Given the description of an element on the screen output the (x, y) to click on. 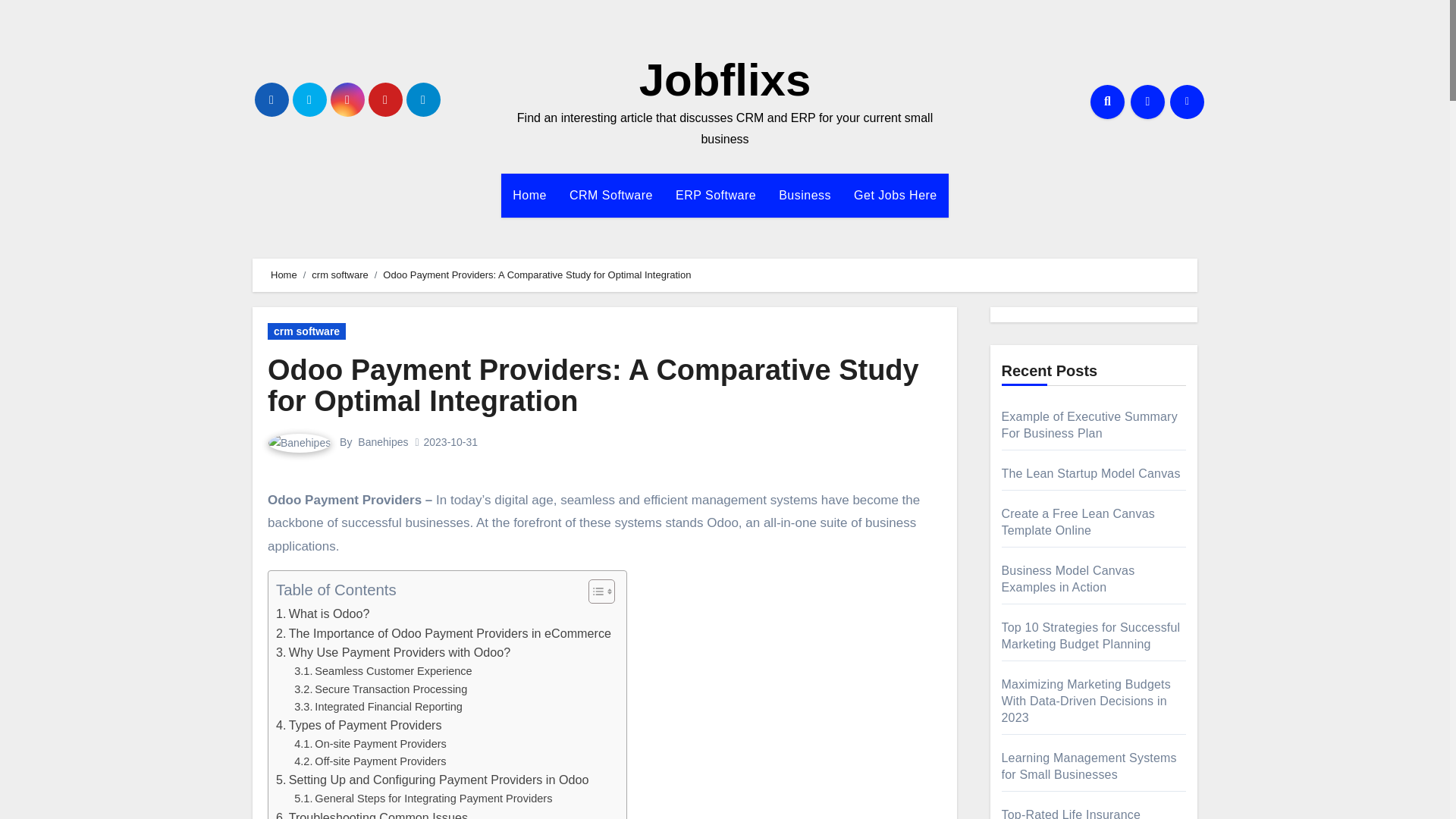
Secure Transaction Processing (380, 689)
CRM Software (610, 195)
Why Use Payment Providers with Odoo? (393, 652)
Jobflixs (724, 79)
Home (528, 195)
The Importance of Odoo Payment Providers in eCommerce (443, 633)
The Importance of Odoo Payment Providers in eCommerce (443, 633)
ERP Software (715, 195)
General Steps for Integrating Payment Providers (422, 798)
Setting Up and Configuring Payment Providers in Odoo (432, 780)
